Given the description of an element on the screen output the (x, y) to click on. 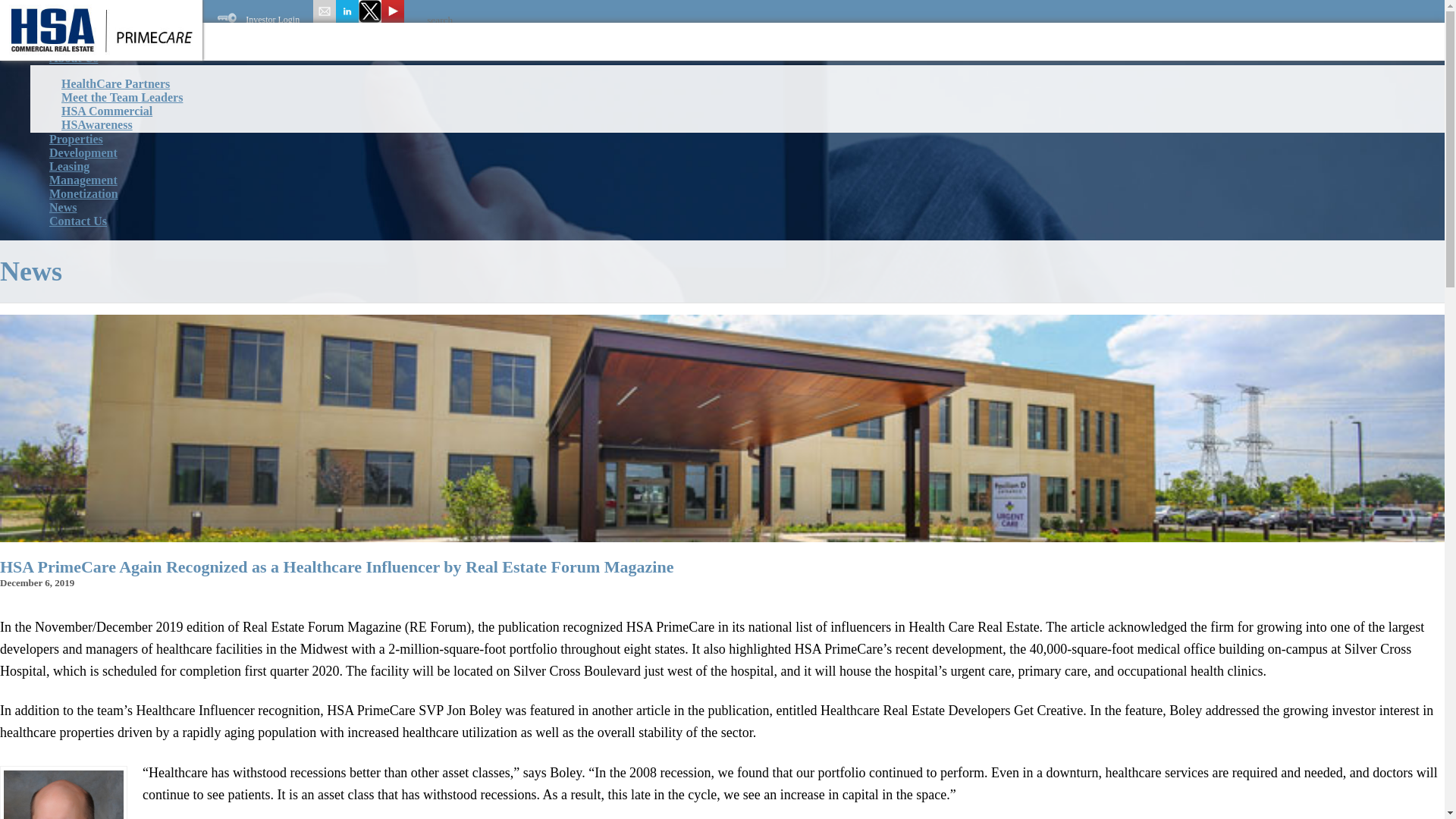
Properties (75, 139)
   Investor Login (257, 19)
HealthCare Partners (115, 83)
News (62, 207)
Leasing (69, 166)
Development (82, 152)
Mobile Navigation (44, 30)
Meet the Team Leaders (122, 97)
About Us (73, 58)
Management (82, 180)
Contact Us (77, 221)
HSA Commercial (106, 110)
Monetization (83, 193)
HSAwareness (96, 124)
